Given the description of an element on the screen output the (x, y) to click on. 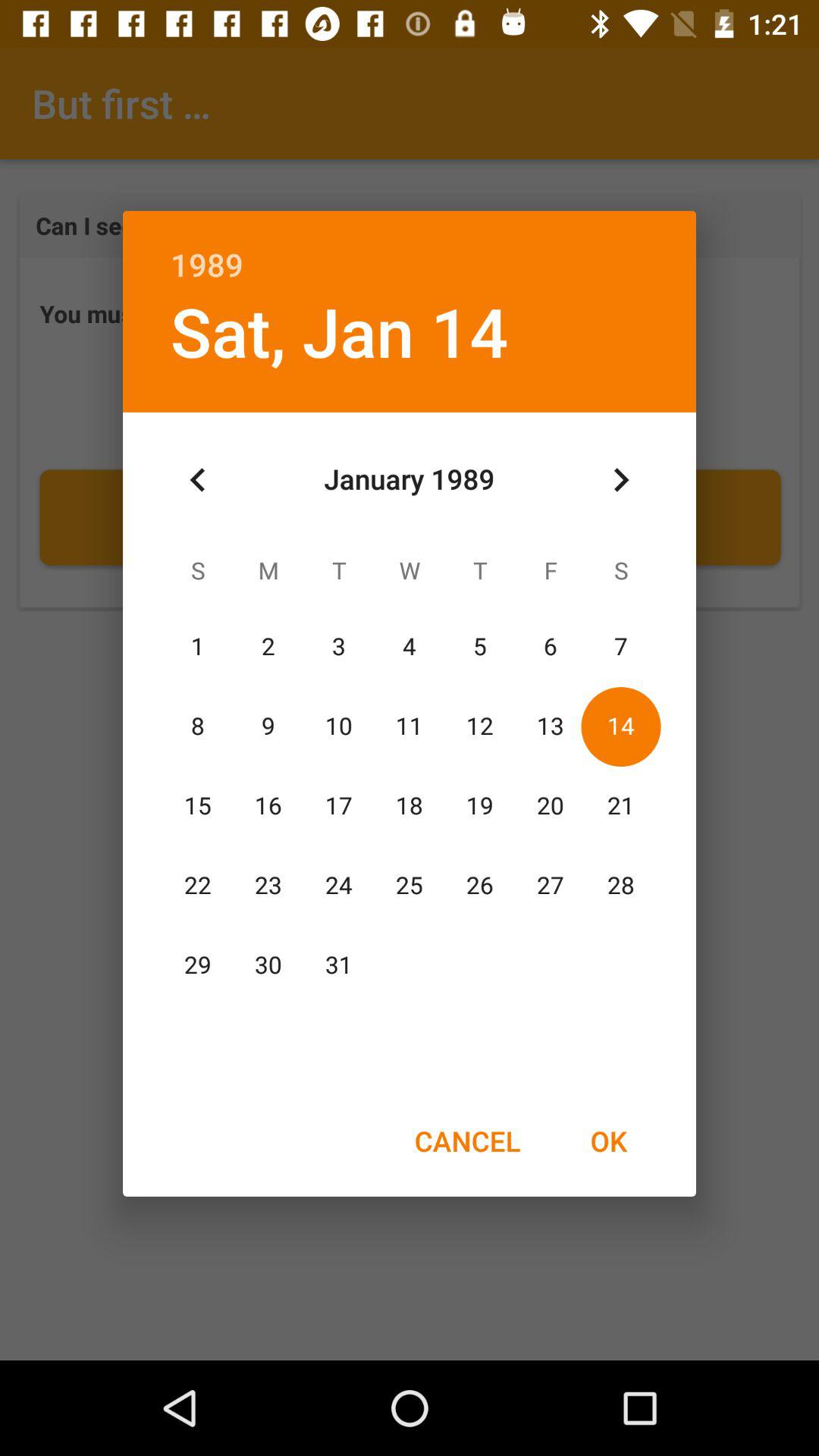
choose the item next to the cancel (608, 1140)
